Given the description of an element on the screen output the (x, y) to click on. 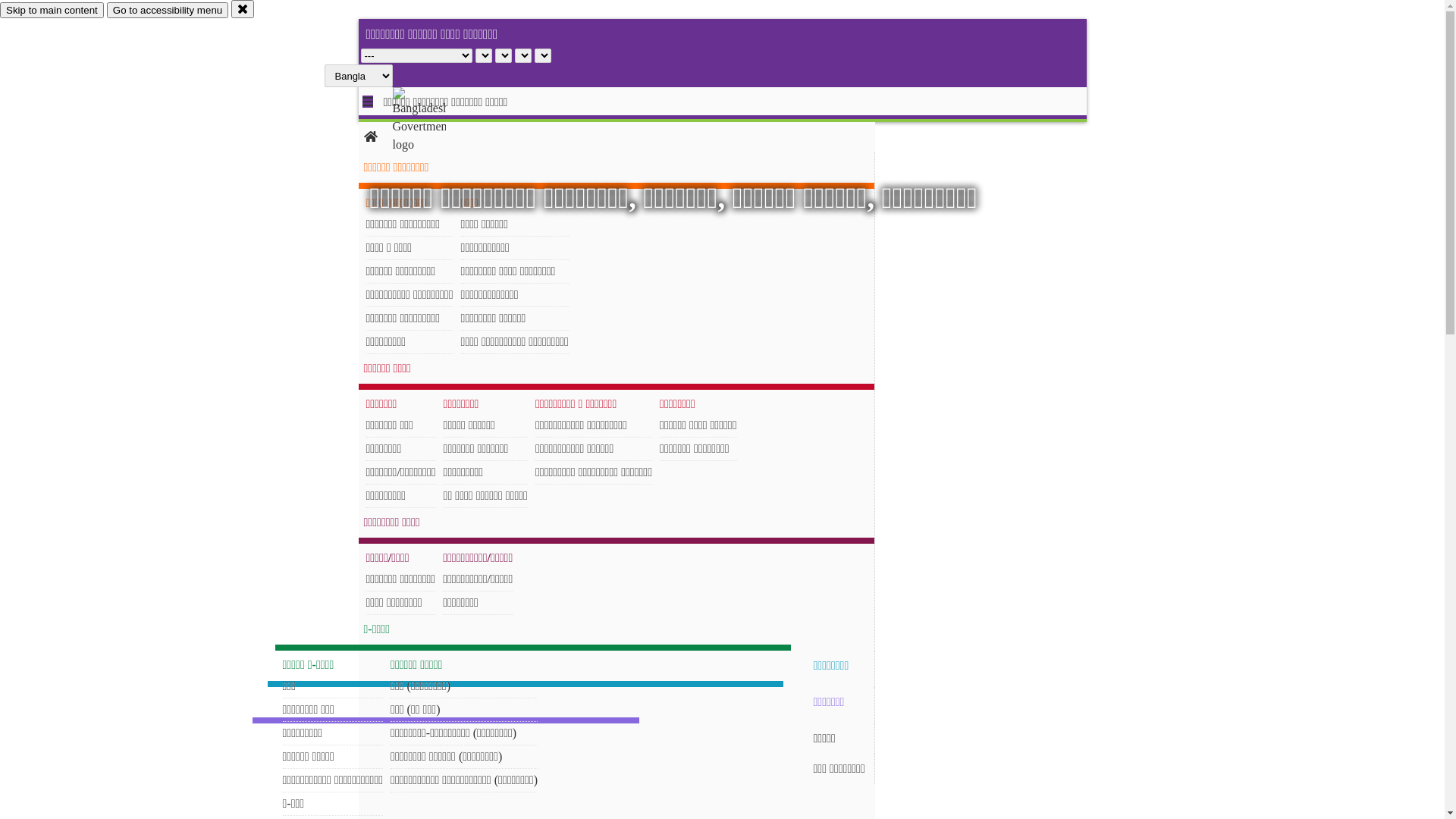
Go to accessibility menu Element type: text (167, 10)
Skip to main content Element type: text (51, 10)

                
             Element type: hover (431, 120)
close Element type: hover (242, 9)
